Given the description of an element on the screen output the (x, y) to click on. 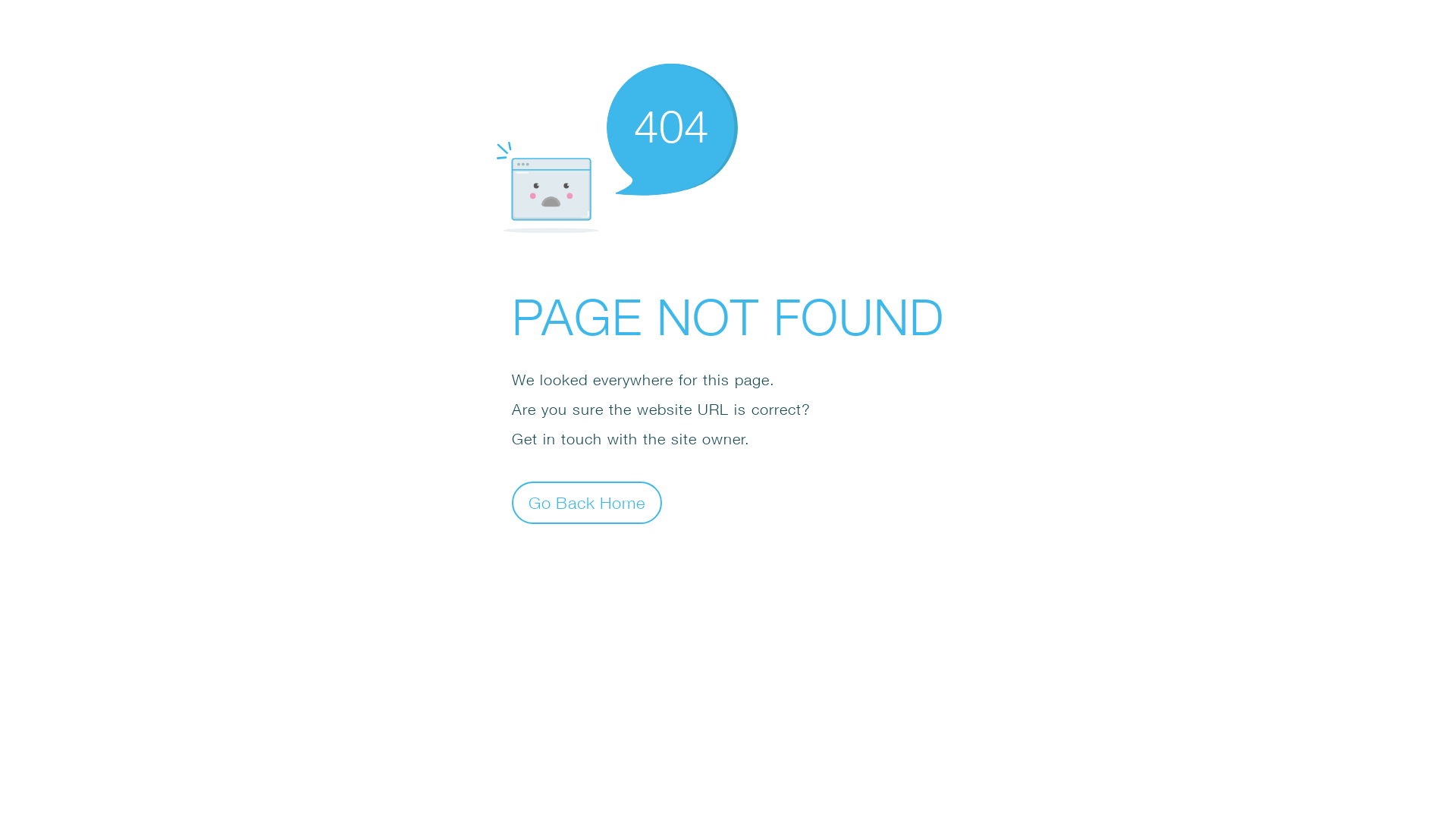
Go Back Home Element type: text (586, 502)
